Given the description of an element on the screen output the (x, y) to click on. 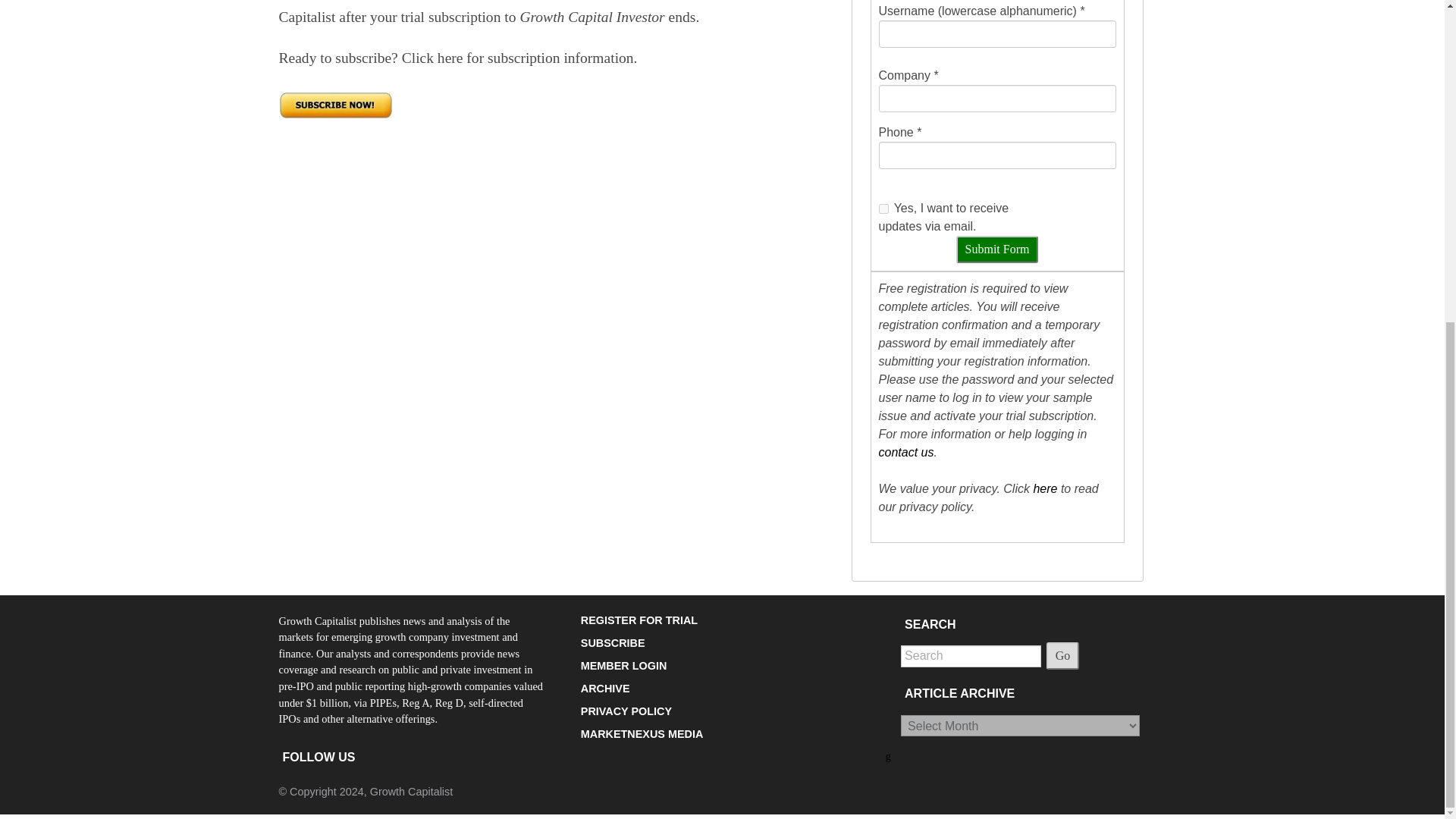
1 (882, 208)
Link to RSS Feed (888, 756)
Submit Form (997, 248)
